Given the description of an element on the screen output the (x, y) to click on. 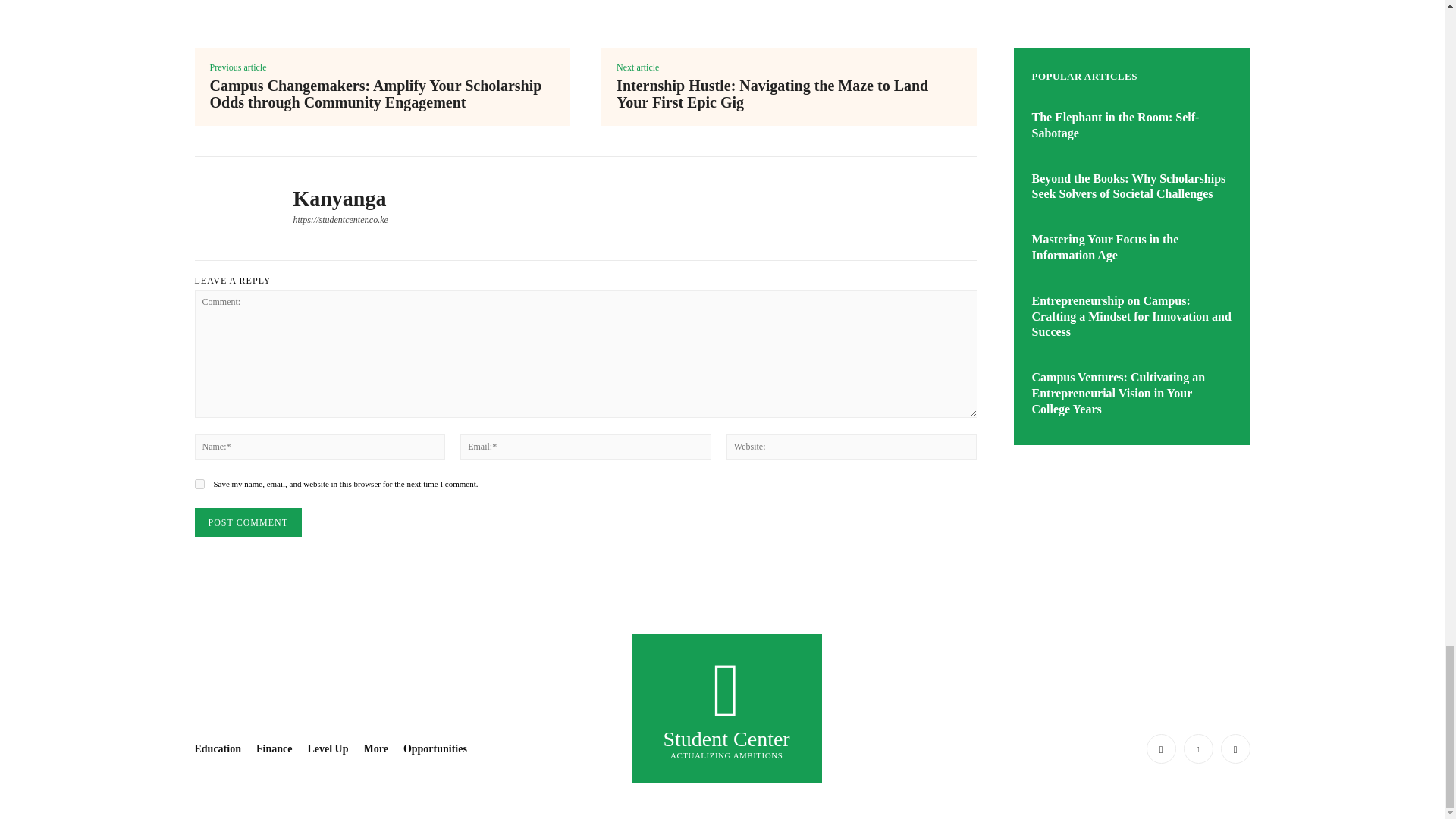
Post Comment (247, 521)
yes (198, 483)
